Given the description of an element on the screen output the (x, y) to click on. 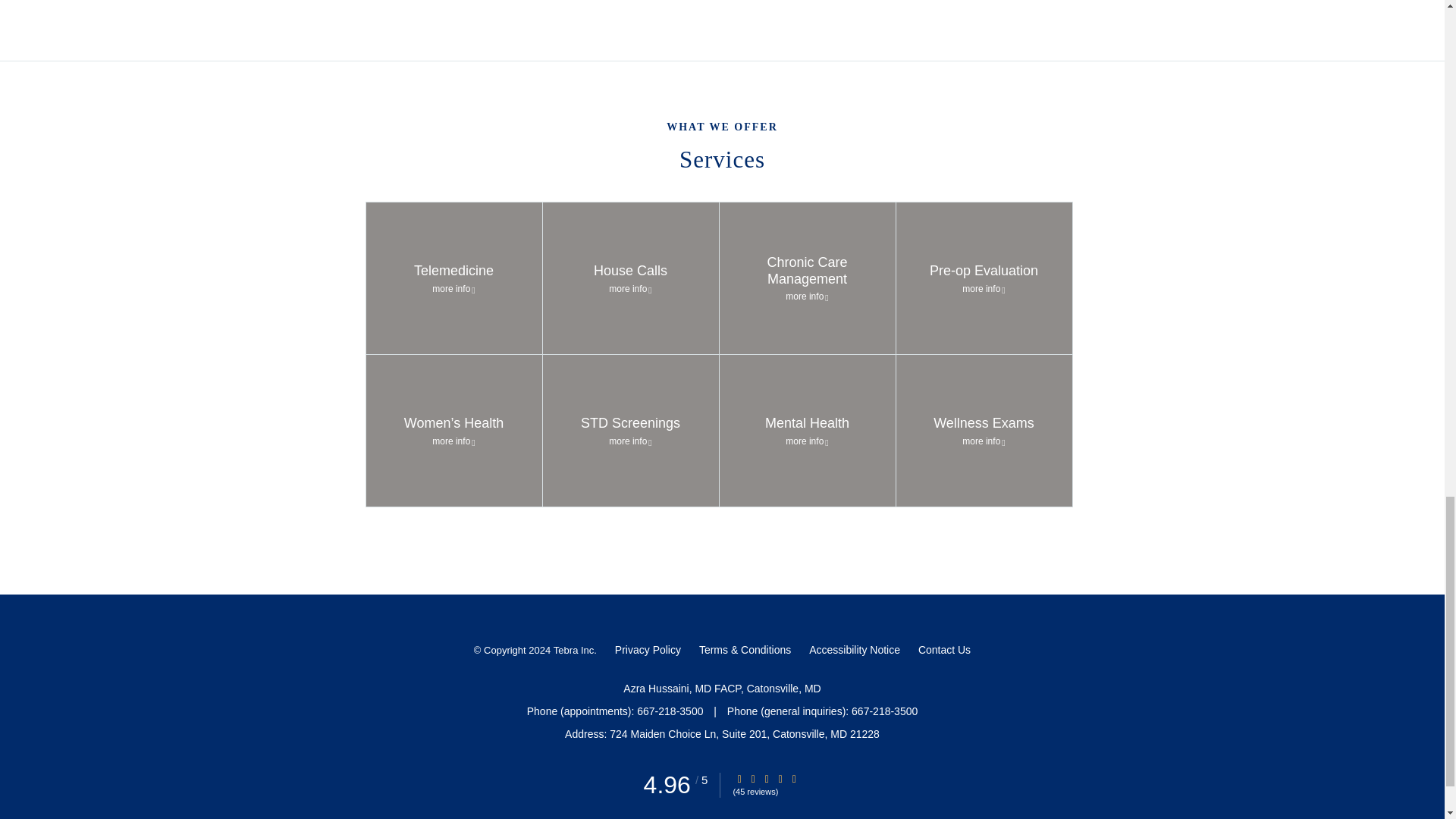
Star Rating (794, 778)
Star Rating (780, 778)
Star Rating (766, 778)
Star Rating (753, 778)
Star Rating (738, 778)
